Given the description of an element on the screen output the (x, y) to click on. 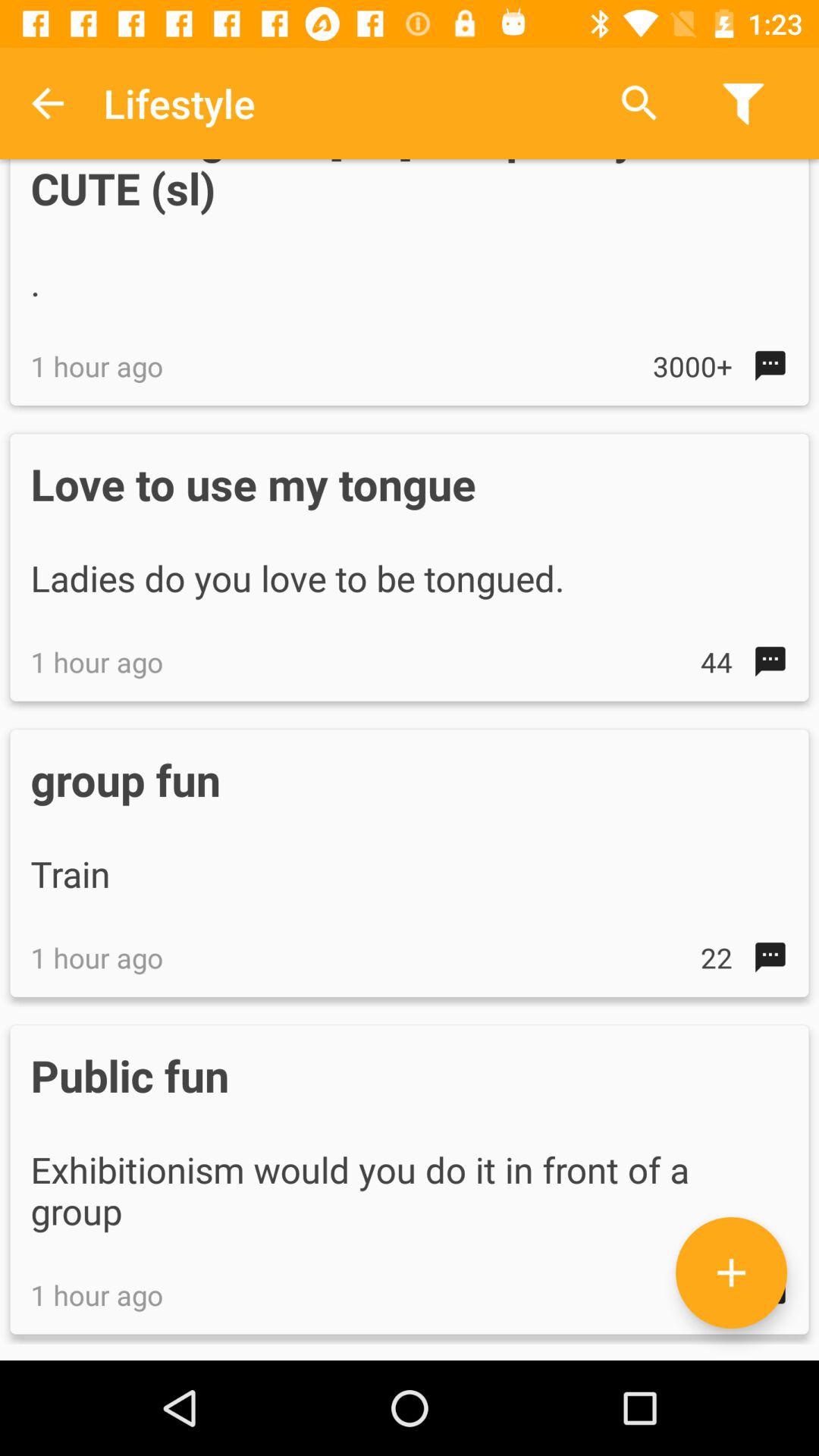
click the icon above all aboriginals 0 item (639, 103)
